Given the description of an element on the screen output the (x, y) to click on. 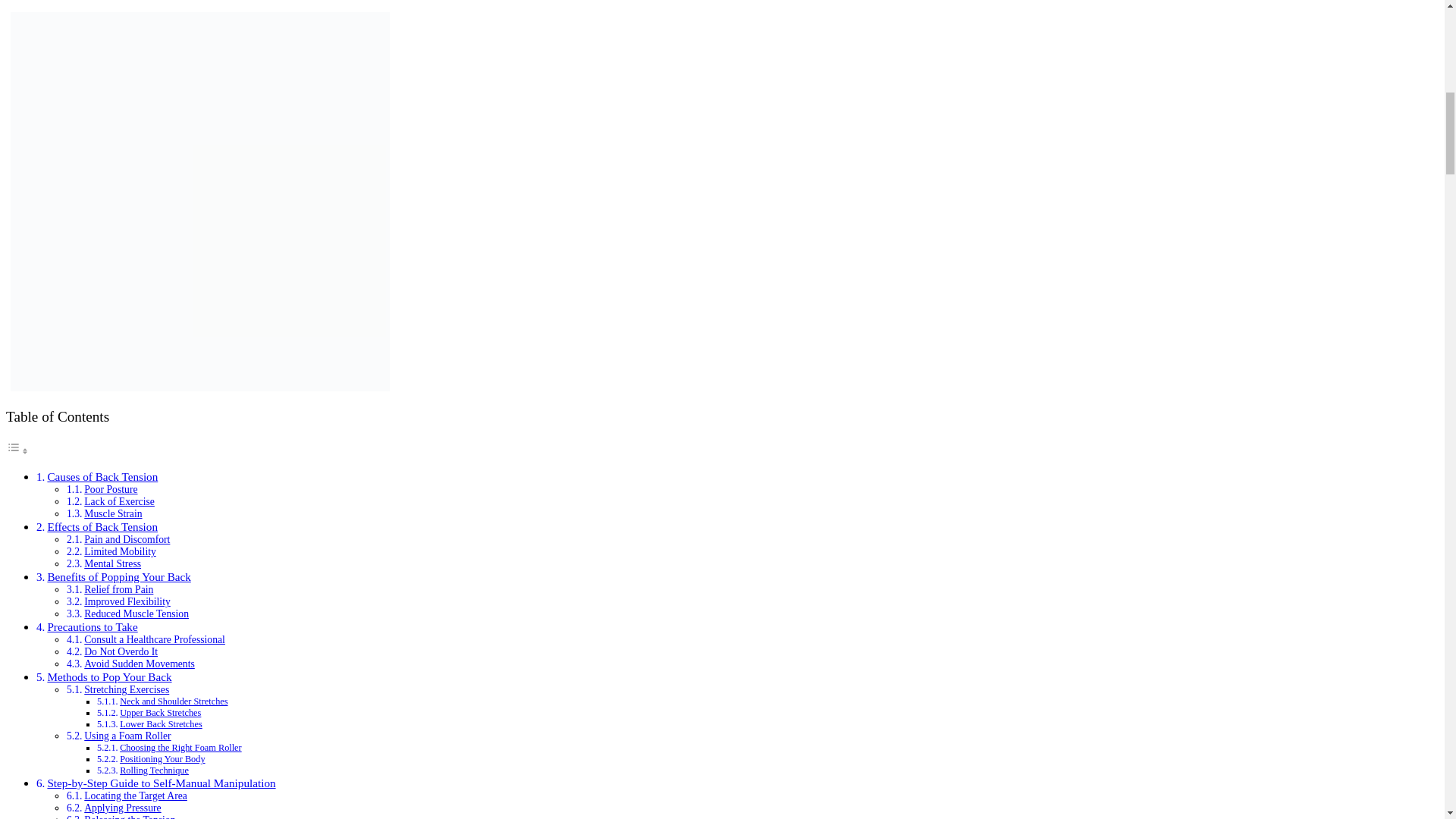
Poor Posture (110, 489)
Causes of Back Tension (101, 476)
Stretching Exercises (126, 689)
Limited Mobility (119, 551)
Lower Back Stretches (160, 724)
Neck and Shoulder Stretches (173, 701)
Choosing the Right Foam Roller (180, 747)
Avoid Sudden Movements (139, 663)
Lack of Exercise (119, 501)
Relief from Pain (118, 589)
Effects of Back Tension (101, 526)
Causes of Back Tension (101, 476)
Reduced Muscle Tension (136, 613)
Consult a Healthcare Professional (154, 639)
Pain and Discomfort (127, 539)
